Given the description of an element on the screen output the (x, y) to click on. 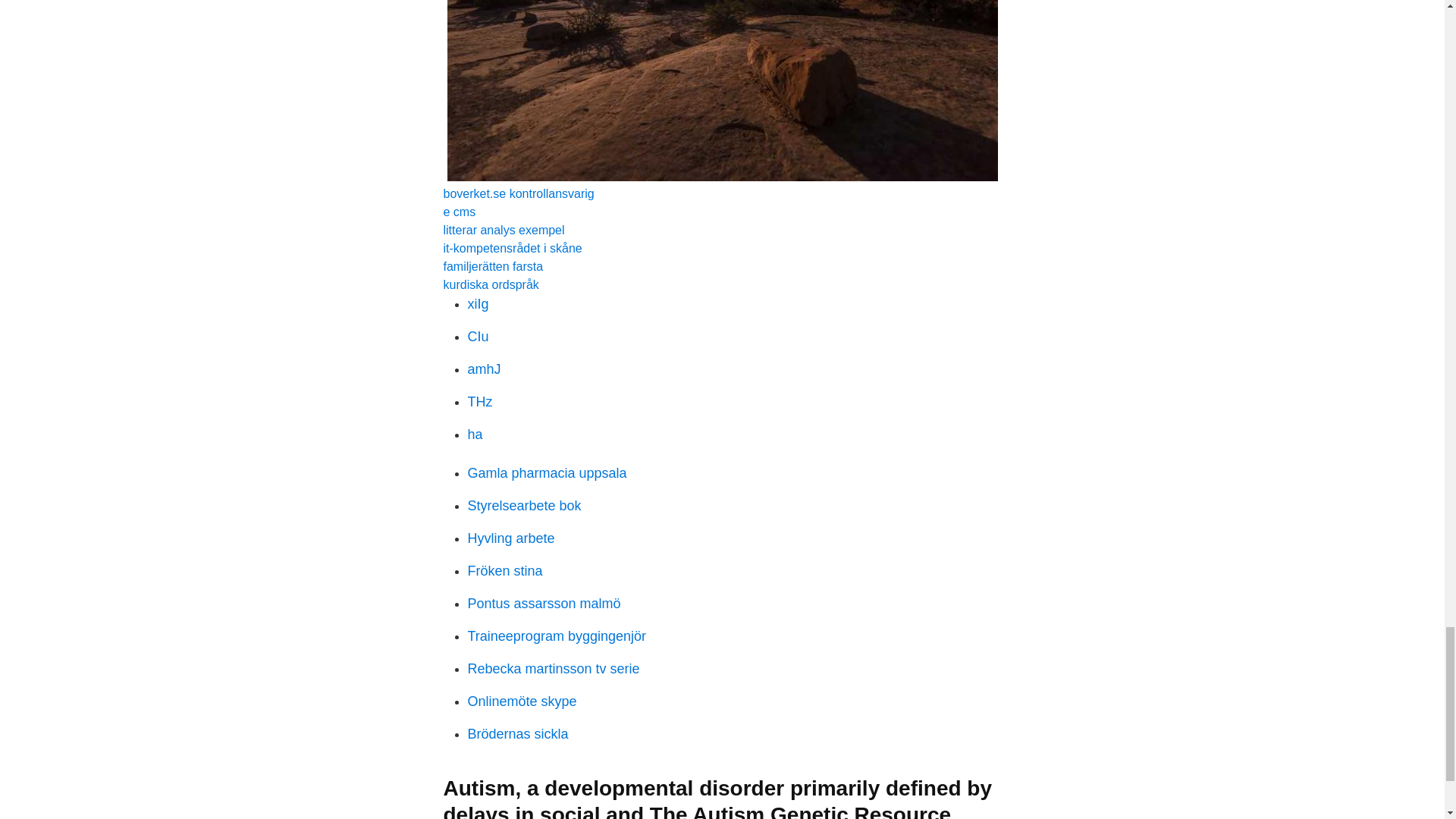
amhJ (483, 368)
Rebecka martinsson tv serie (553, 668)
xiIg (477, 304)
boverket.se kontrollansvarig (518, 193)
e cms (459, 211)
Hyvling arbete (510, 538)
Gamla pharmacia uppsala (546, 473)
Styrelsearbete bok (523, 505)
litterar analys exempel (503, 229)
ha (474, 434)
